Given the description of an element on the screen output the (x, y) to click on. 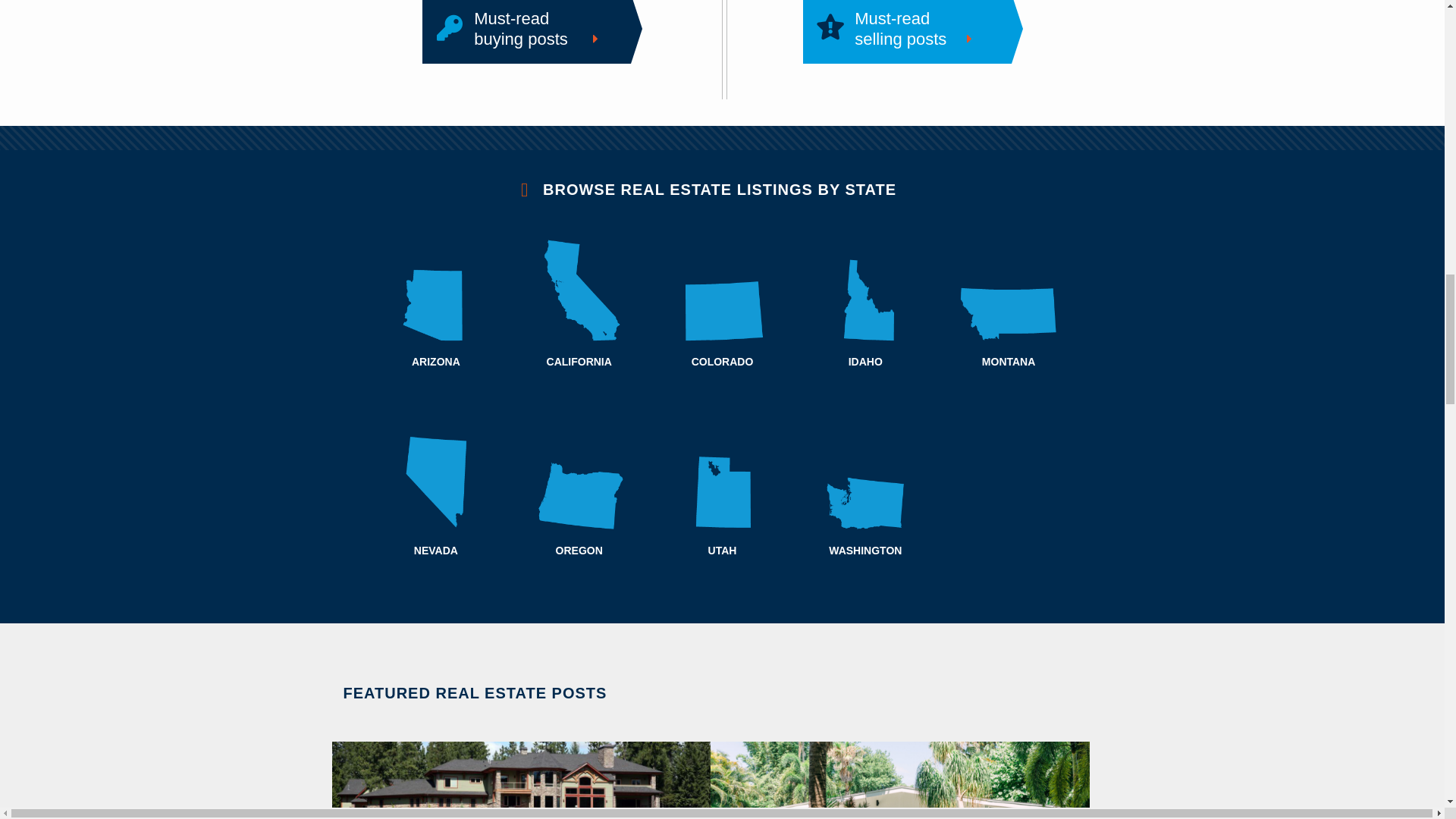
icon-state-washington (865, 479)
icon-state-california (578, 290)
icon-state-oregon (578, 479)
w-angle-pattern-bar-desktop-dark (722, 137)
icon-state-idaho (906, 28)
icon-state-montana (865, 290)
icon-state-colorado (526, 28)
icon-state-arizona (1008, 290)
icon-state-utah (721, 290)
icon-state-nevada (436, 290)
